Given the description of an element on the screen output the (x, y) to click on. 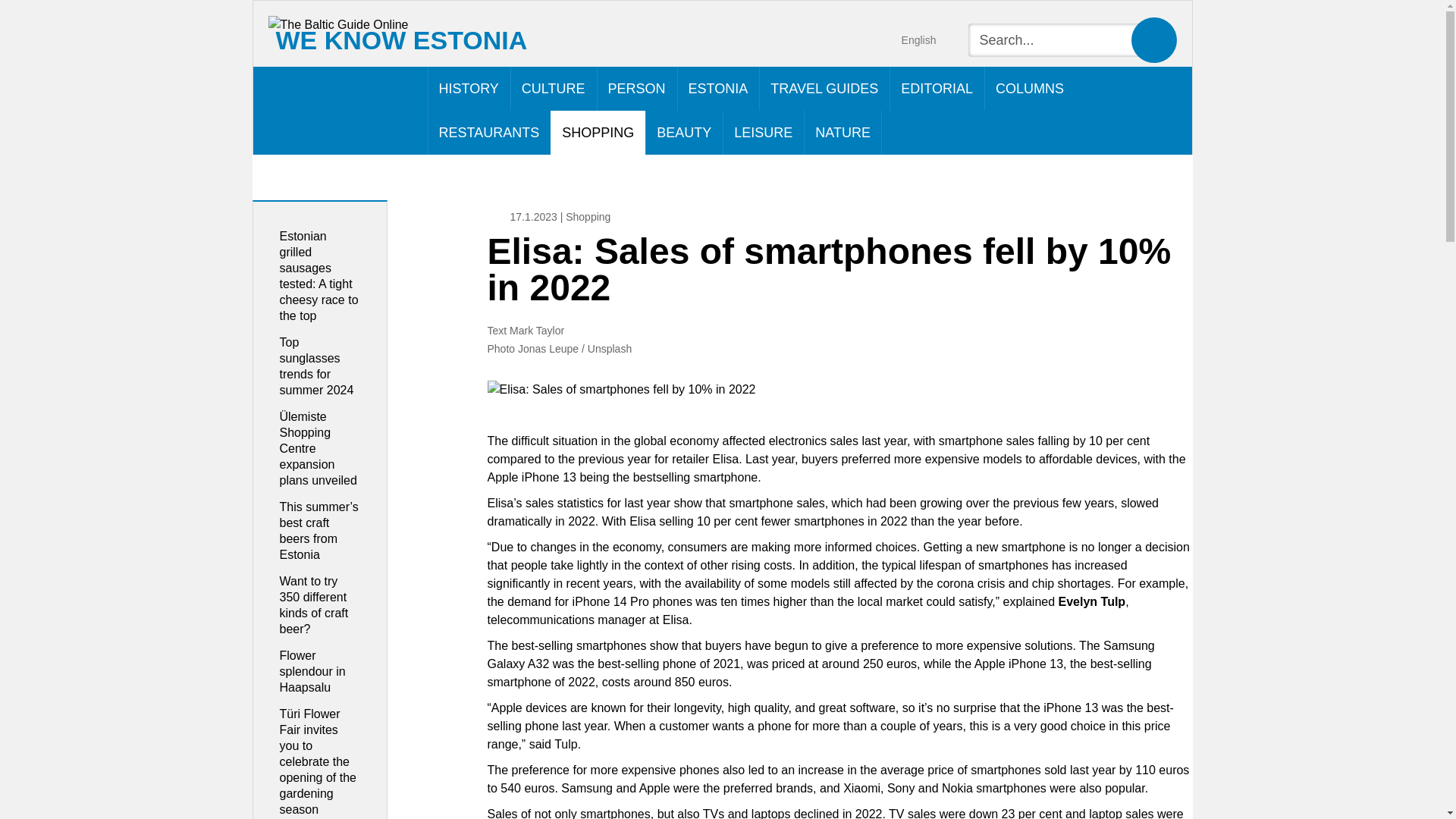
LEISURE (762, 132)
HISTORY (469, 88)
Want to try 350 different kinds of craft beer? (313, 604)
RESTAURANTS (489, 132)
EDITORIAL (936, 88)
Top sunglasses trends for summer 2024 (316, 365)
NATURE (842, 132)
BEAUTY (683, 132)
ESTONIA (718, 88)
Flower splendour in Haapsalu (312, 671)
